Given the description of an element on the screen output the (x, y) to click on. 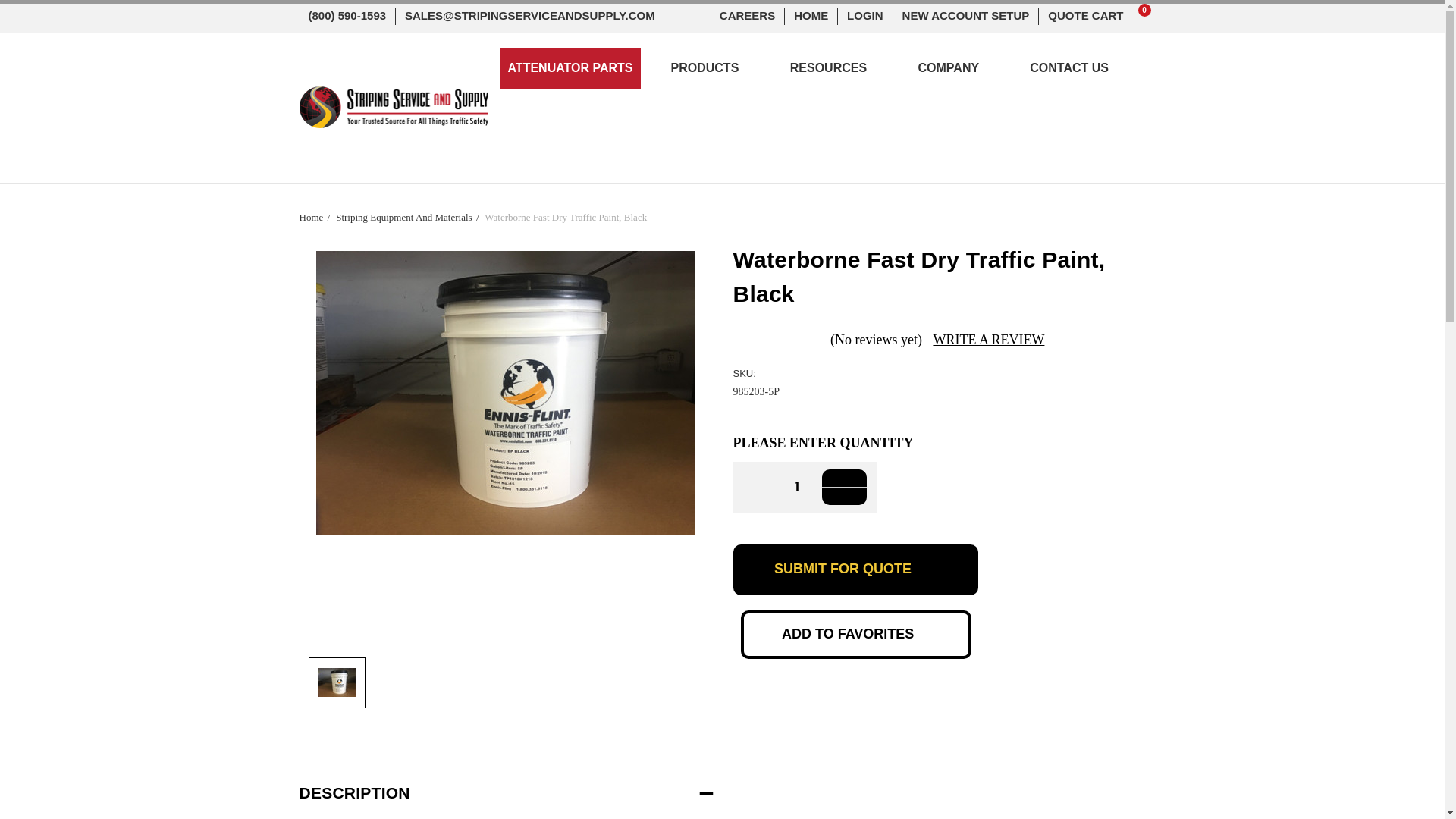
Home (310, 215)
NEW ACCOUNT SETUP (966, 16)
ATTENUATOR PARTS (569, 66)
WRITE A REVIEW (988, 339)
Striping Service and Supply (392, 106)
Waterborne Fast Dry Traffic Paint, Black (565, 215)
COMPANY (955, 69)
1 (787, 487)
CAREERS (747, 16)
PRODUCTS (711, 69)
HOME (810, 16)
Waterborne Fast Dry Traffic Paint, Black (337, 682)
Waterborne Fast Dry Traffic Paint, Black (504, 392)
Striping Equipment And Materials (1091, 16)
